Given the description of an element on the screen output the (x, y) to click on. 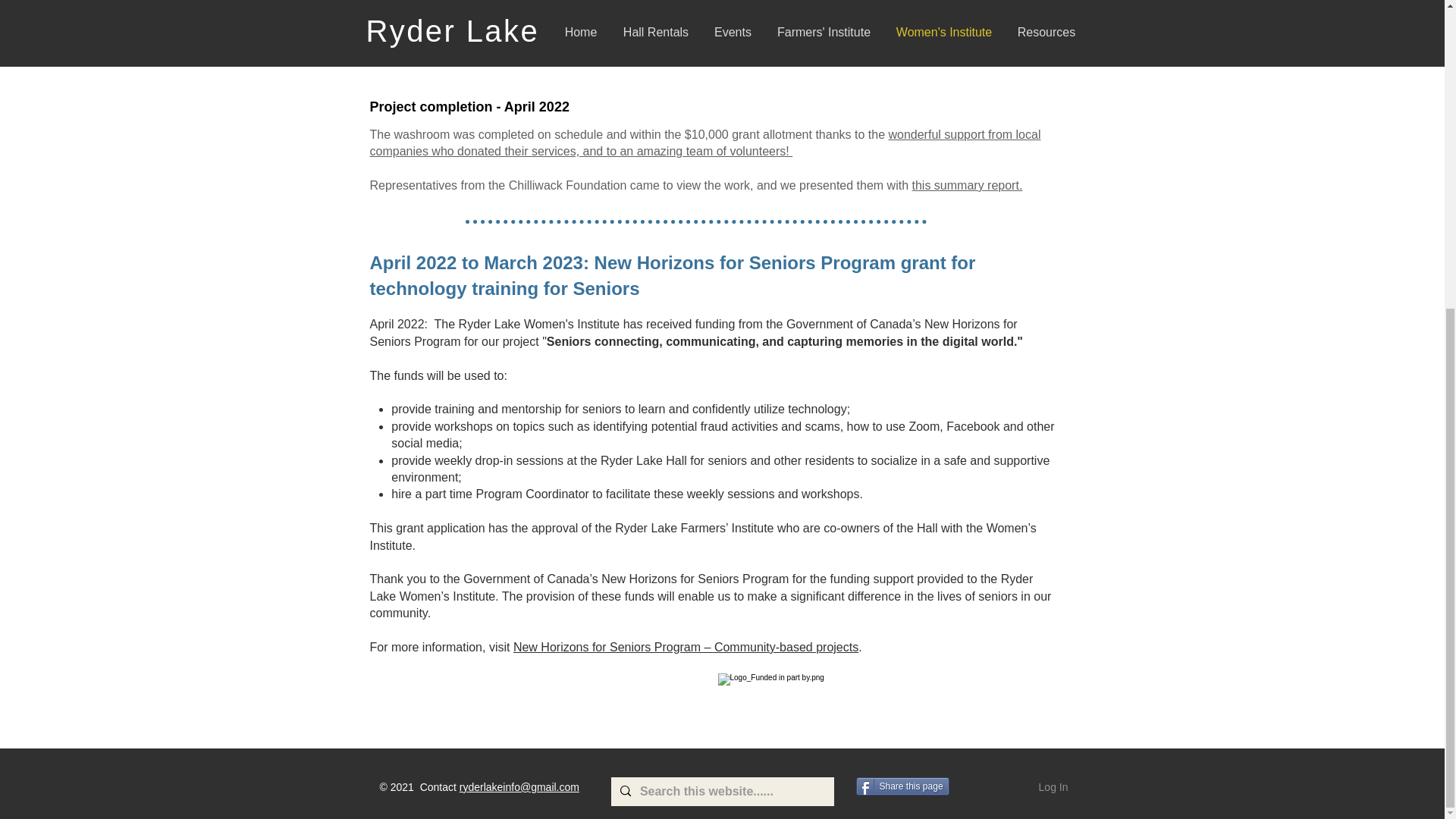
this summary report. (967, 185)
Share this page (902, 786)
Share this page (902, 786)
Log In (1052, 787)
